Given the description of an element on the screen output the (x, y) to click on. 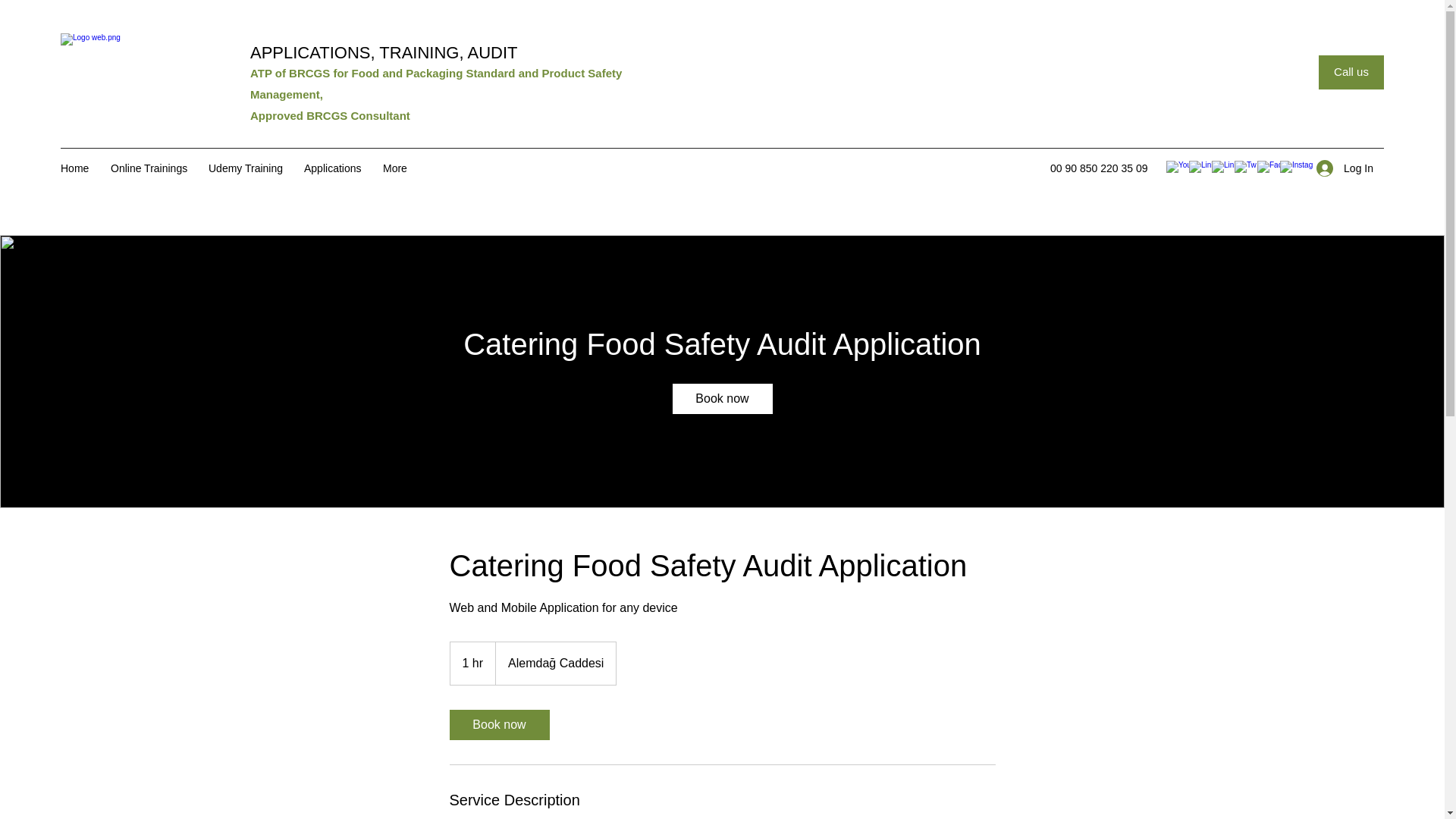
Udemy Training (248, 168)
Log In (1345, 168)
Call us (1351, 72)
Online Trainings (151, 168)
Applications (336, 168)
Book now (498, 725)
Home (77, 168)
Book now (721, 399)
